Given the description of an element on the screen output the (x, y) to click on. 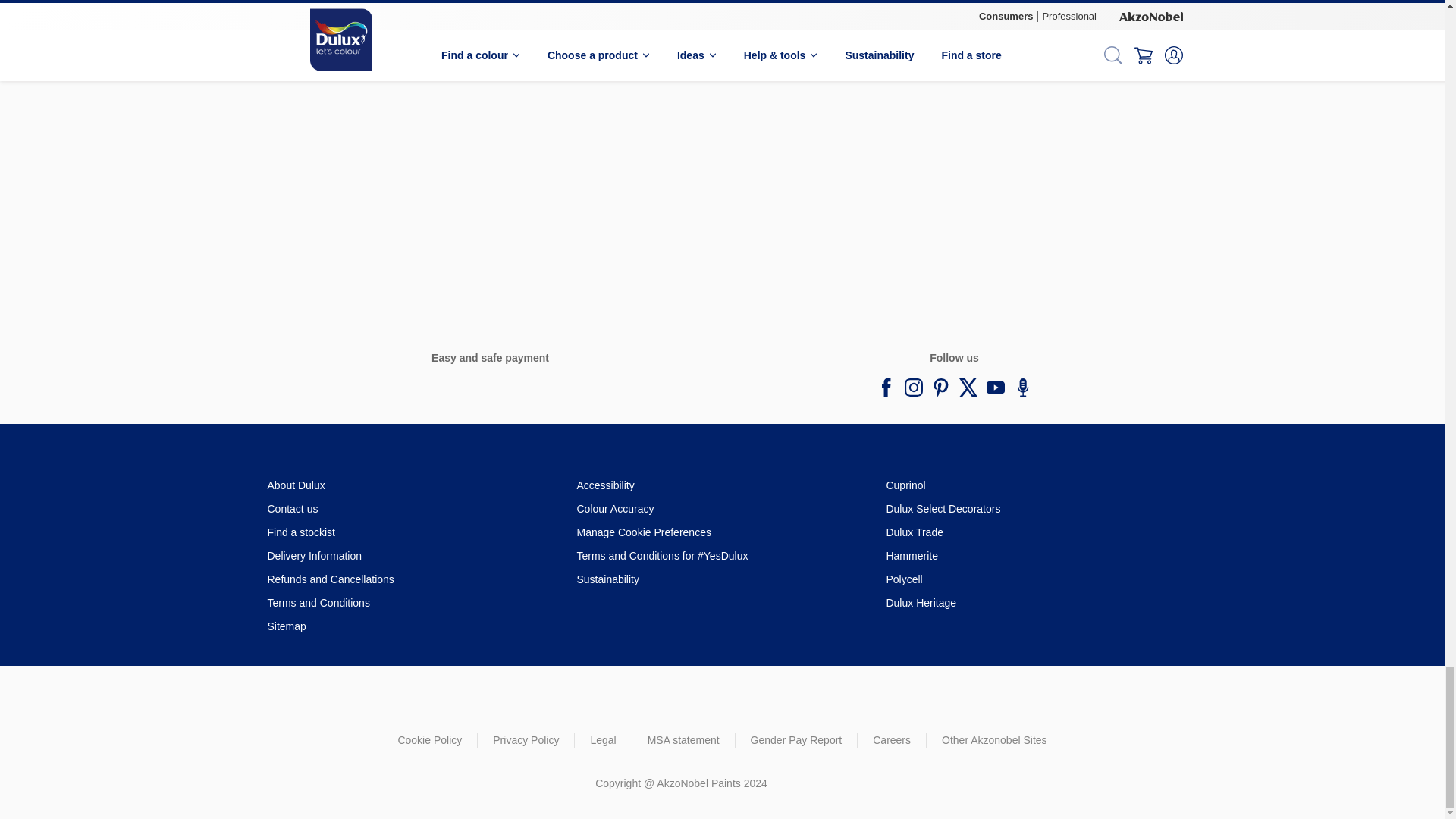
Follow us (1022, 387)
Follow us (995, 387)
Follow us (967, 387)
Follow us (939, 387)
Follow us (912, 387)
Follow us (885, 387)
